Given the description of an element on the screen output the (x, y) to click on. 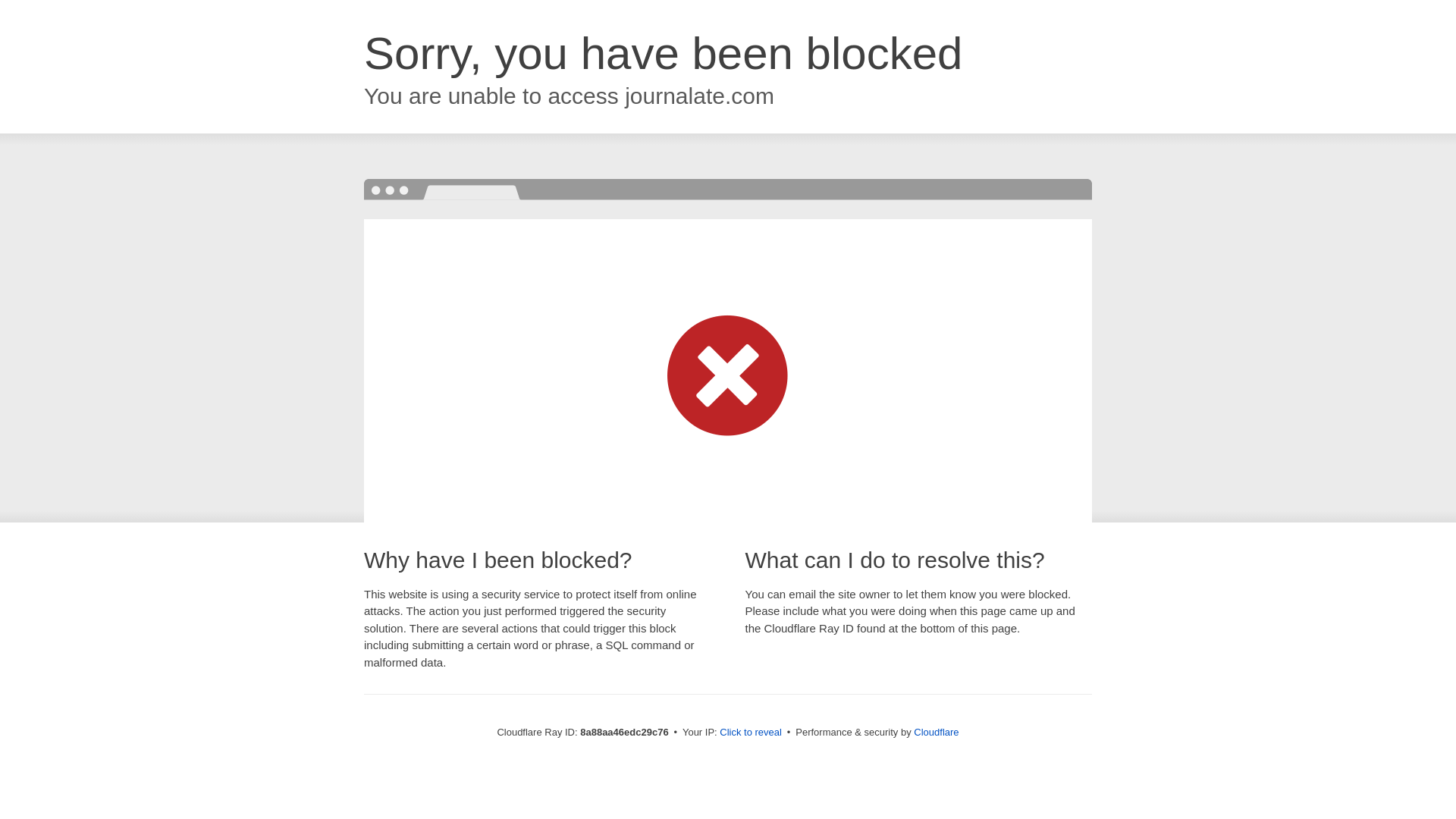
Click to reveal (750, 732)
Cloudflare (936, 731)
